Given the description of an element on the screen output the (x, y) to click on. 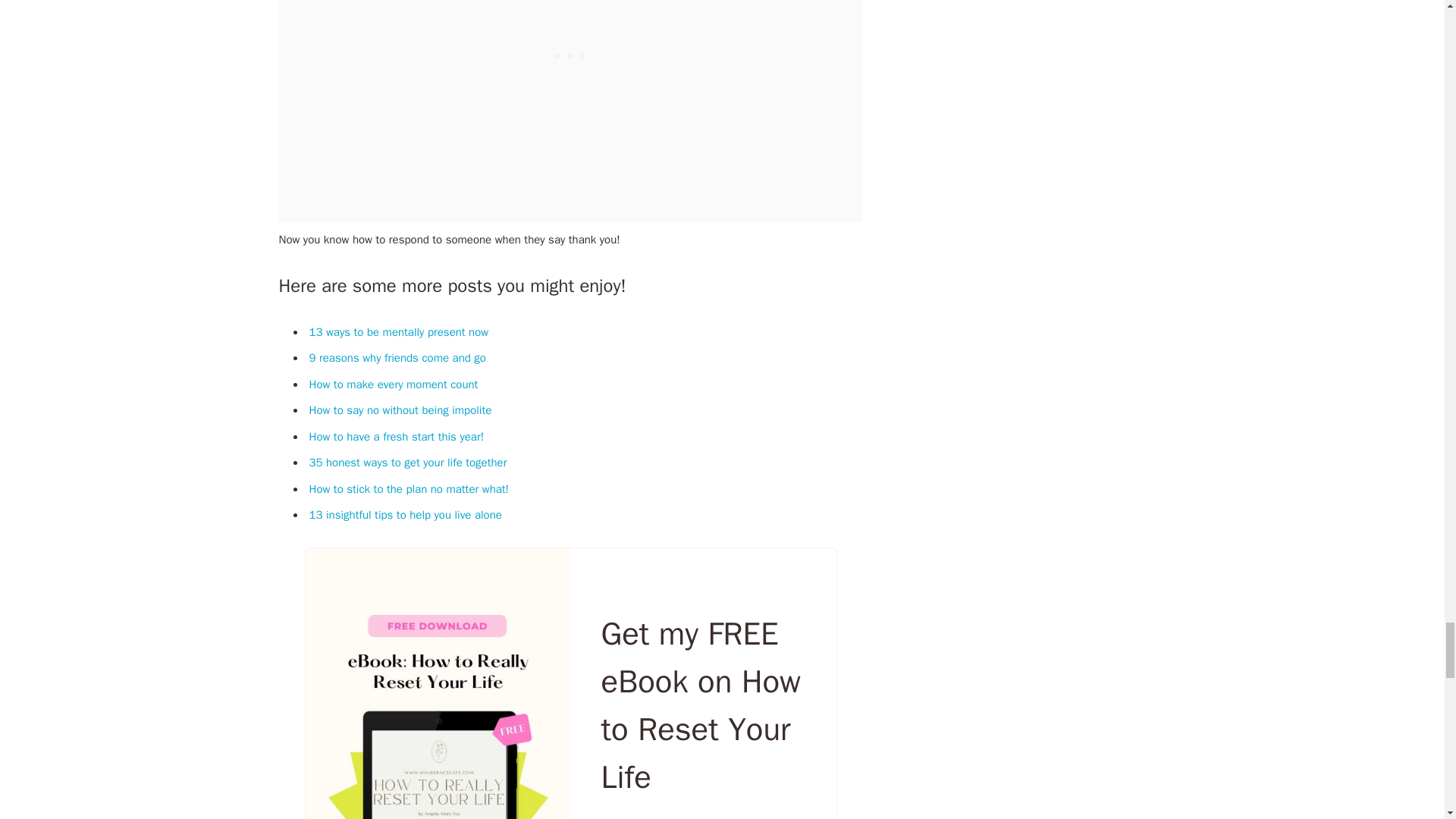
How to have a fresh start this year! (396, 436)
35 honest ways to get your life together (407, 462)
13 insightful tips to help you live alone (405, 514)
9 reasons why friends come and go (397, 357)
13 ways to be mentally present now (398, 332)
How to stick to the plan no matter what! (408, 489)
How to say no without being impolite (400, 409)
How to make every moment count (393, 384)
